Given the description of an element on the screen output the (x, y) to click on. 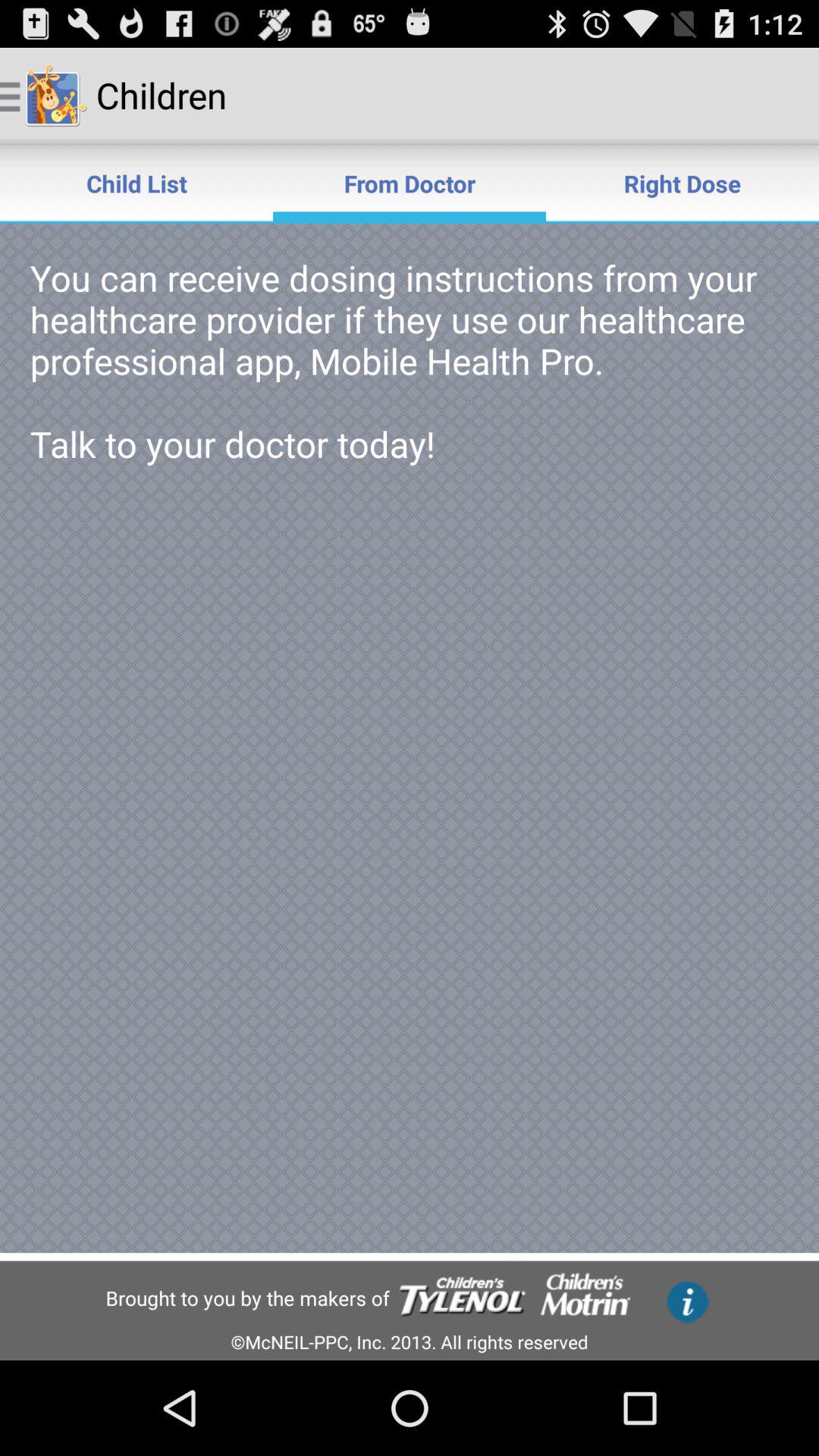
swipe to child list item (136, 183)
